Given the description of an element on the screen output the (x, y) to click on. 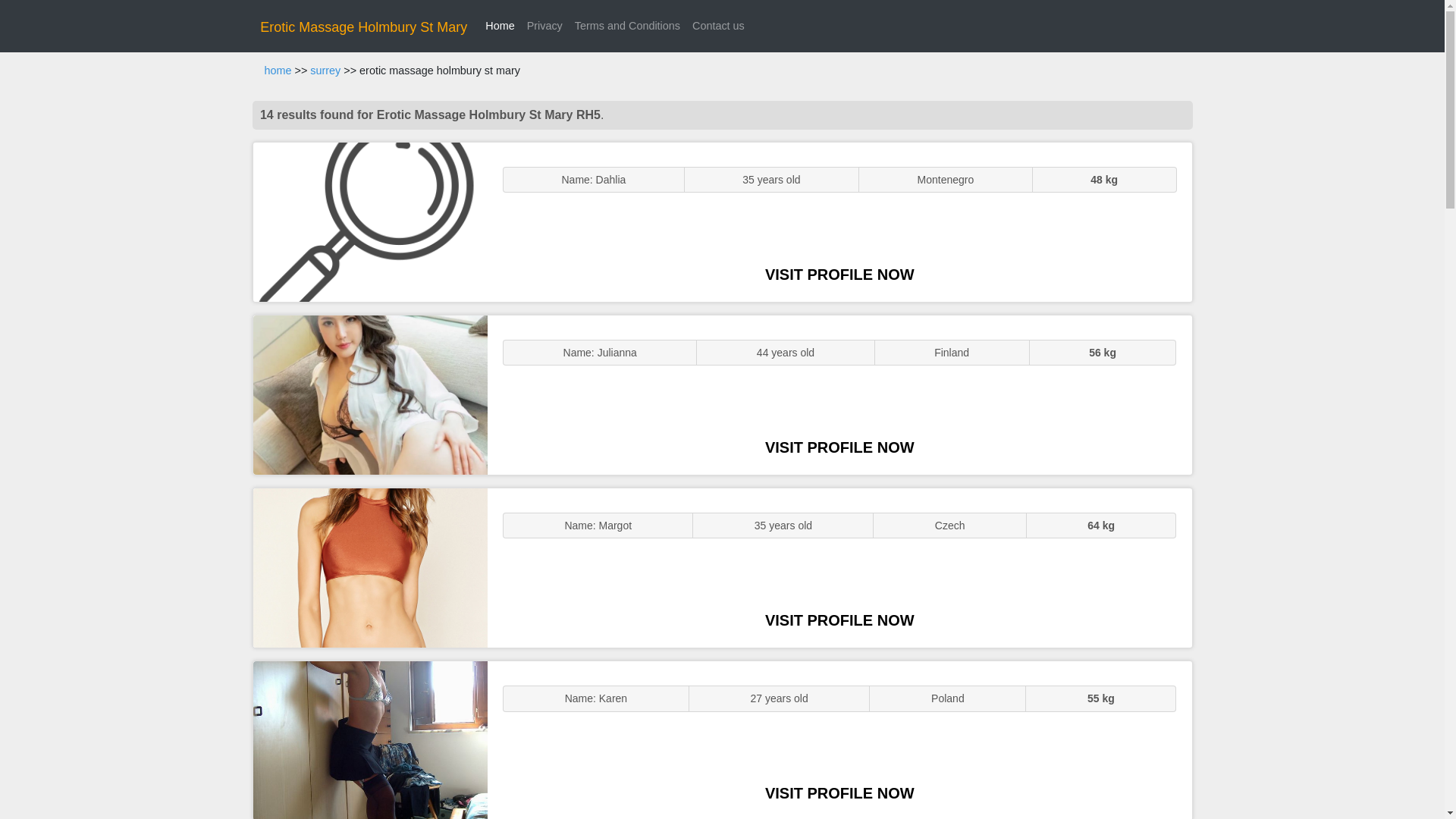
 ENGLISH STUNNER (370, 222)
Erotic Massage Holmbury St Mary (363, 27)
Terms and Conditions (627, 25)
home (277, 70)
Contact us (718, 25)
Sluts (370, 739)
VISIT PROFILE NOW (839, 619)
surrey (325, 70)
VISIT PROFILE NOW (839, 274)
VISIT PROFILE NOW (839, 792)
